Given the description of an element on the screen output the (x, y) to click on. 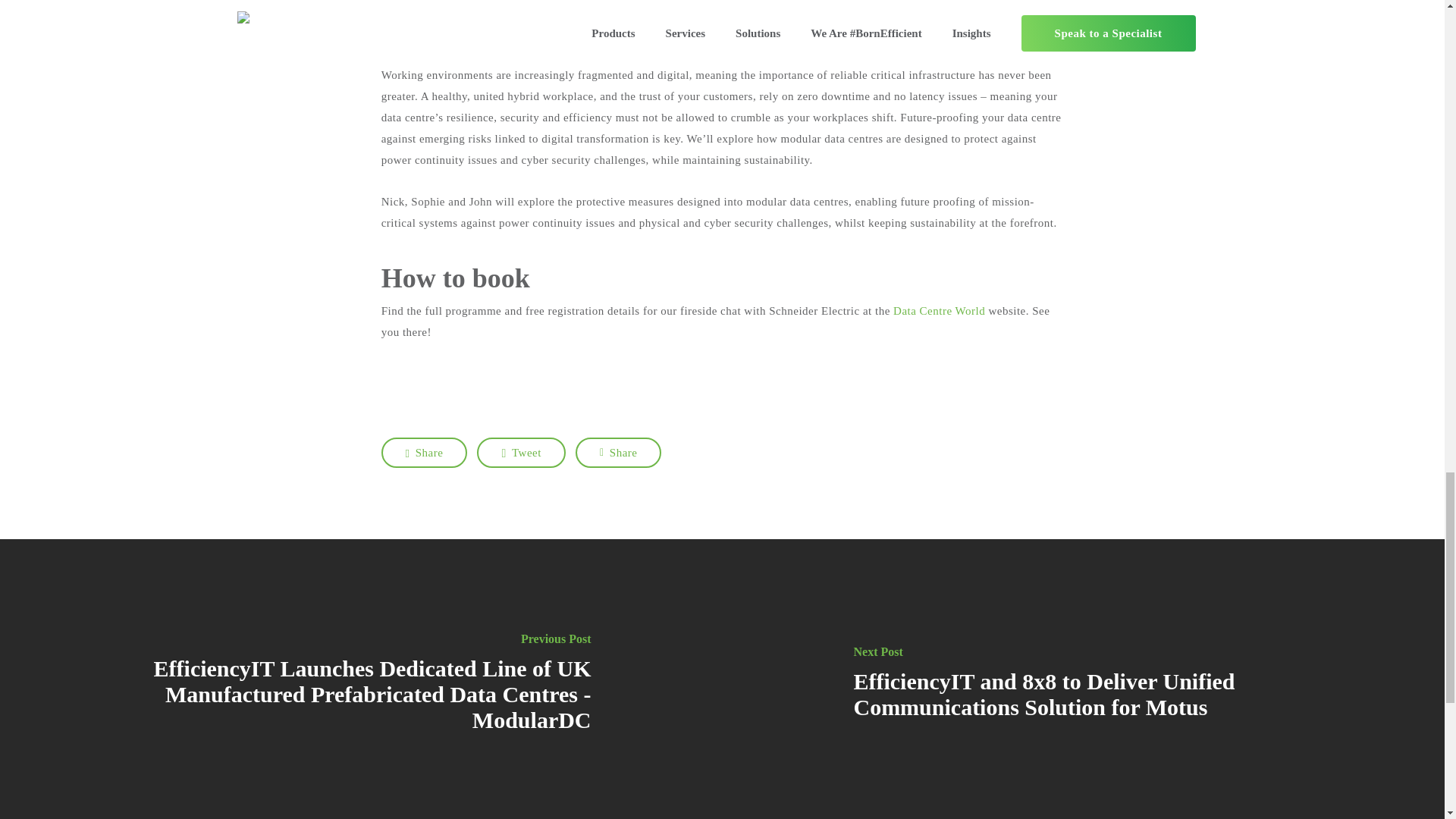
Share this (423, 452)
Tweet this (521, 452)
Share this (618, 452)
